Given the description of an element on the screen output the (x, y) to click on. 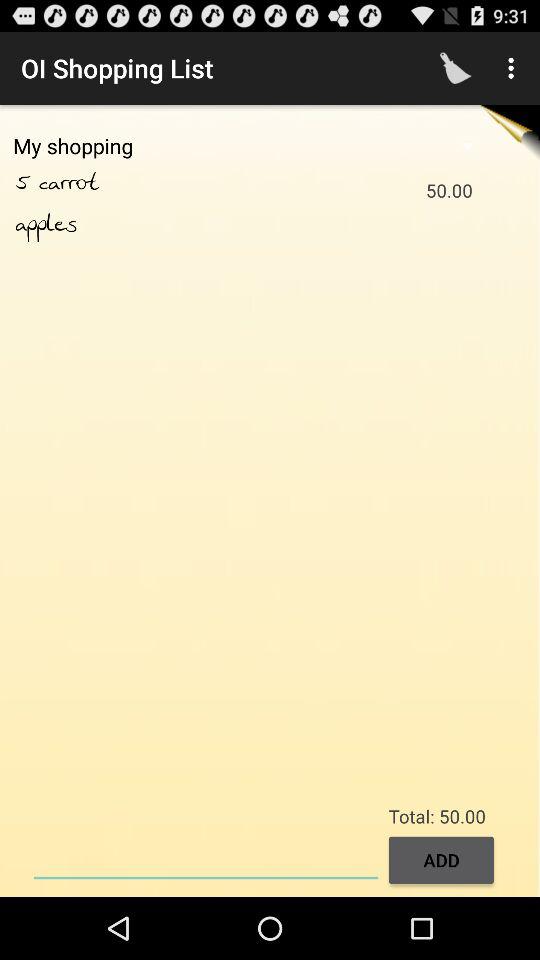
select the app above the my shopping item (455, 67)
